Given the description of an element on the screen output the (x, y) to click on. 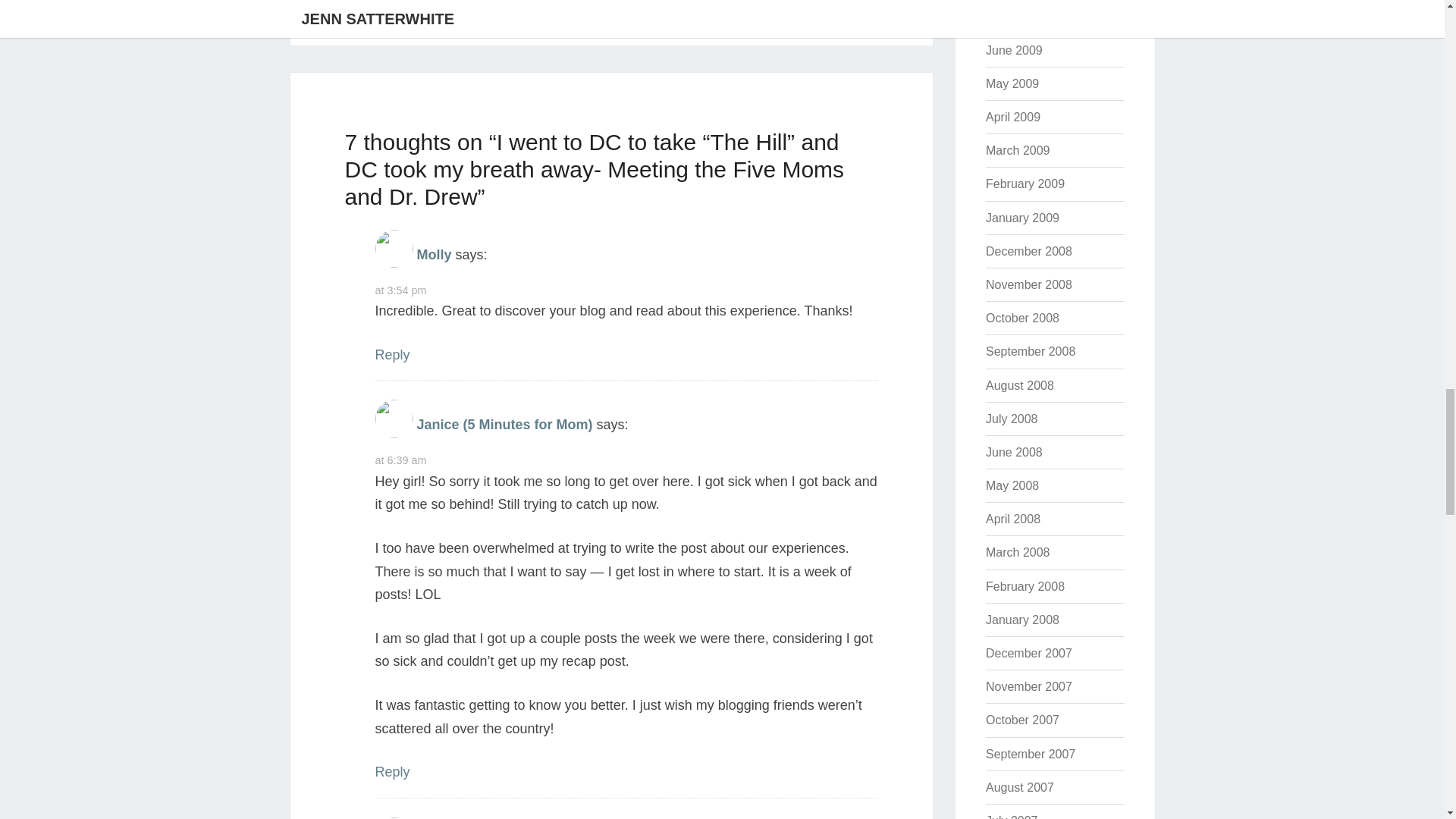
at 6:39 am (400, 460)
Reply (391, 771)
Reply (391, 354)
at 3:54 pm (400, 290)
Molly (433, 253)
